Given the description of an element on the screen output the (x, y) to click on. 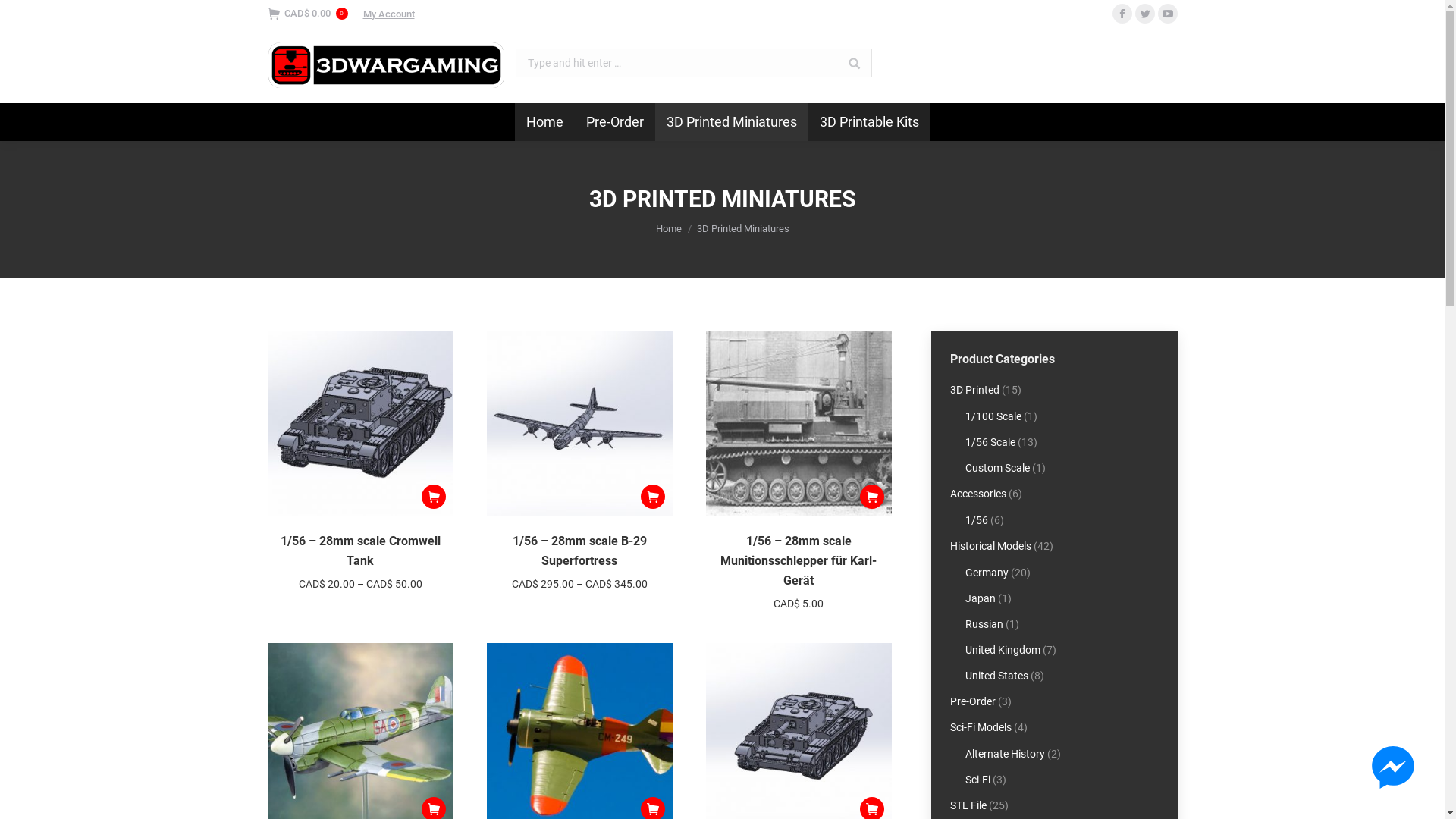
Alternate History Element type: text (1004, 753)
3D Printable Kits Element type: text (869, 122)
1/56 Scale Element type: text (989, 442)
3D Printed Miniatures Element type: text (731, 122)
Sci-Fi Element type: text (976, 779)
Germany Element type: text (985, 572)
Home Element type: text (544, 122)
Historical Models Element type: text (989, 545)
Russian Element type: text (983, 624)
United Kingdom Element type: text (1001, 649)
Pre-Order Element type: text (971, 701)
STL File Element type: text (967, 805)
CAD$ 0.000 Element type: text (306, 13)
3D Printed Element type: text (973, 389)
United States Element type: text (995, 675)
Pre-Order Element type: text (614, 122)
Accessories Element type: text (977, 493)
YouTube Element type: text (1166, 13)
My Account Element type: text (388, 12)
Go! Element type: text (845, 57)
1/56 Element type: text (975, 520)
Twitter Element type: text (1144, 13)
Japan Element type: text (979, 598)
Facebook Element type: text (1121, 13)
Sci-Fi Models Element type: text (979, 727)
Home Element type: text (667, 228)
1/100 Scale Element type: text (992, 416)
Custom Scale Element type: text (996, 467)
